Given the description of an element on the screen output the (x, y) to click on. 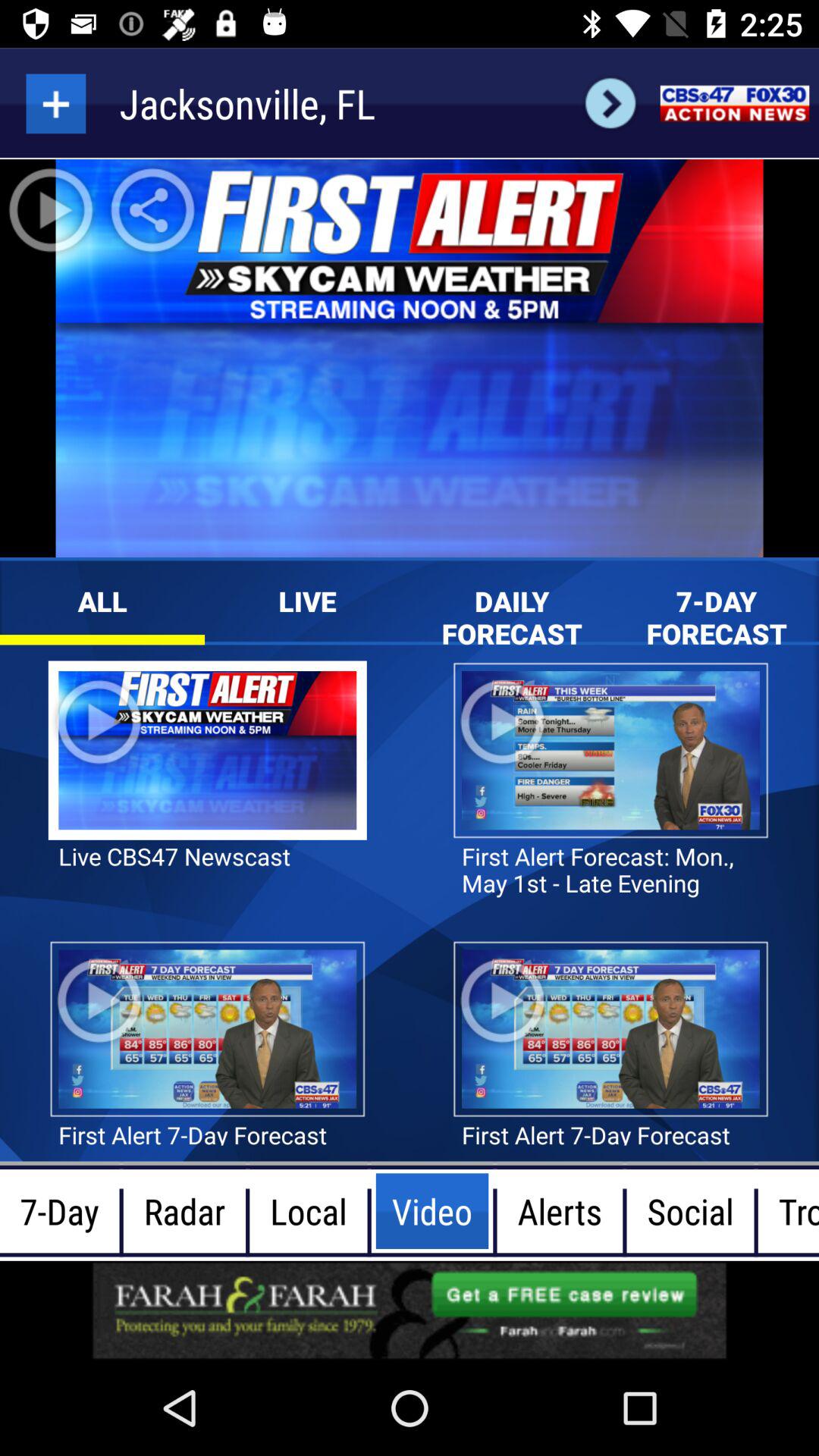
go to next (610, 103)
